Given the description of an element on the screen output the (x, y) to click on. 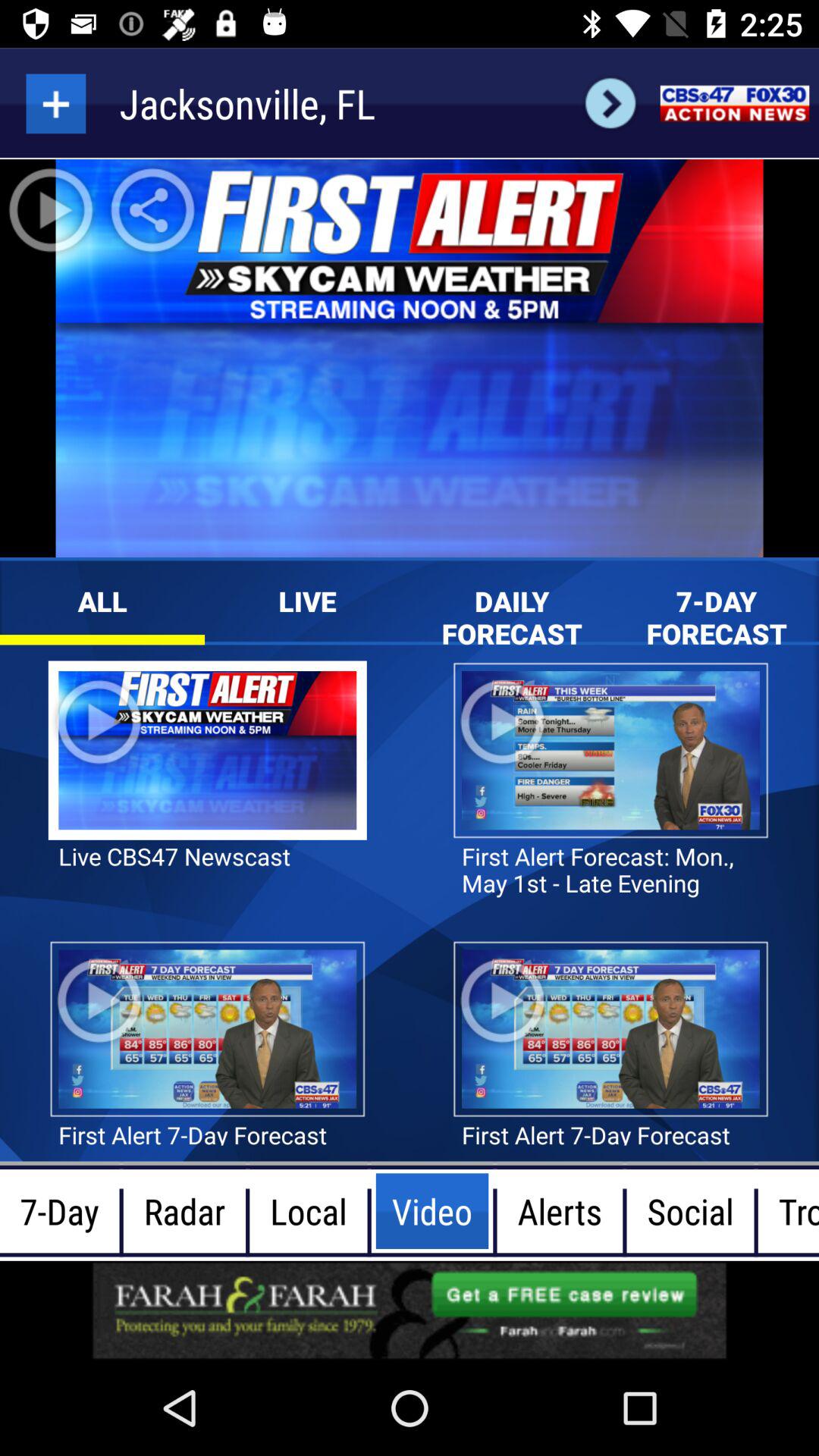
go to next (610, 103)
